Given the description of an element on the screen output the (x, y) to click on. 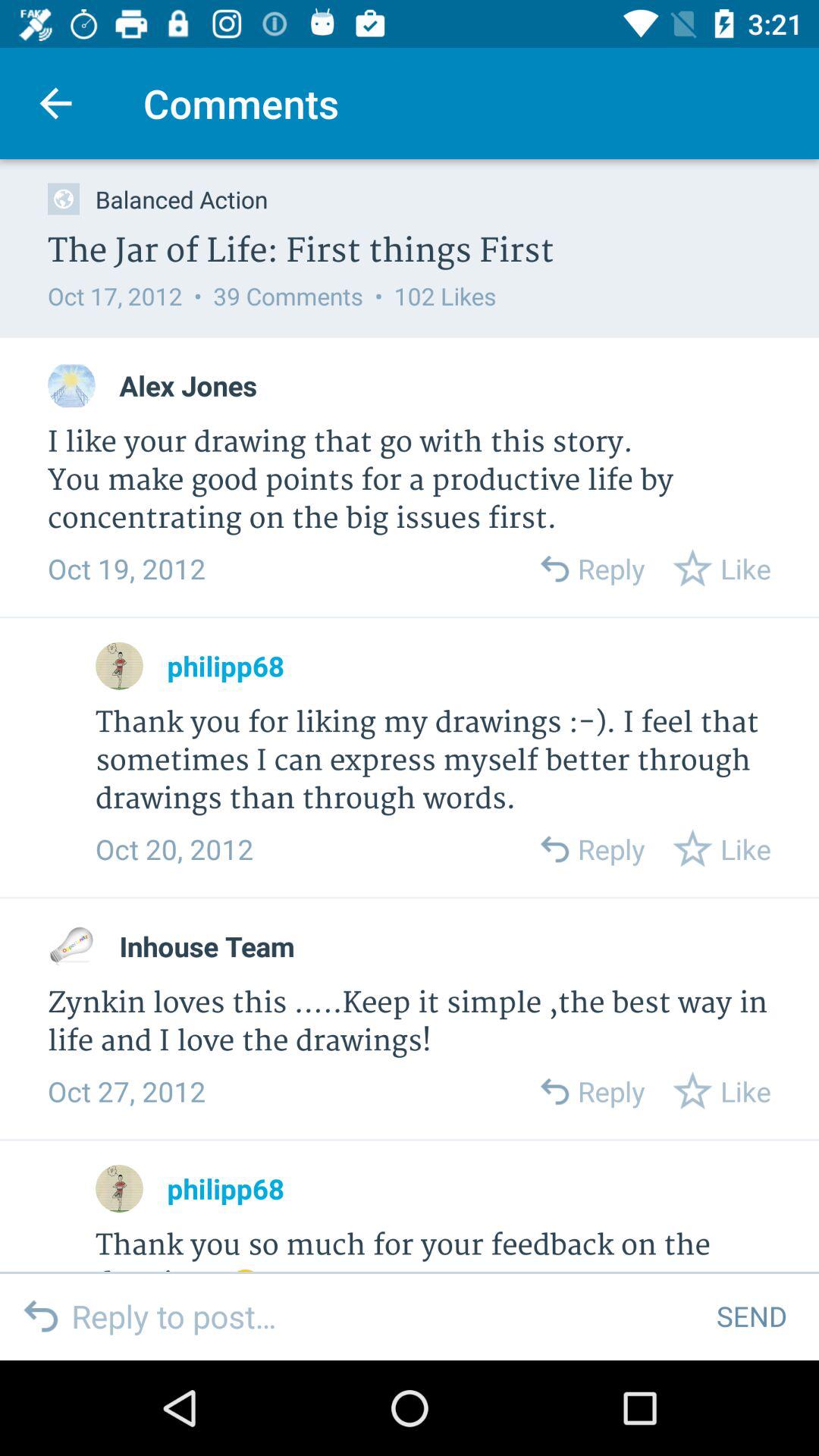
reply option (553, 568)
